Given the description of an element on the screen output the (x, y) to click on. 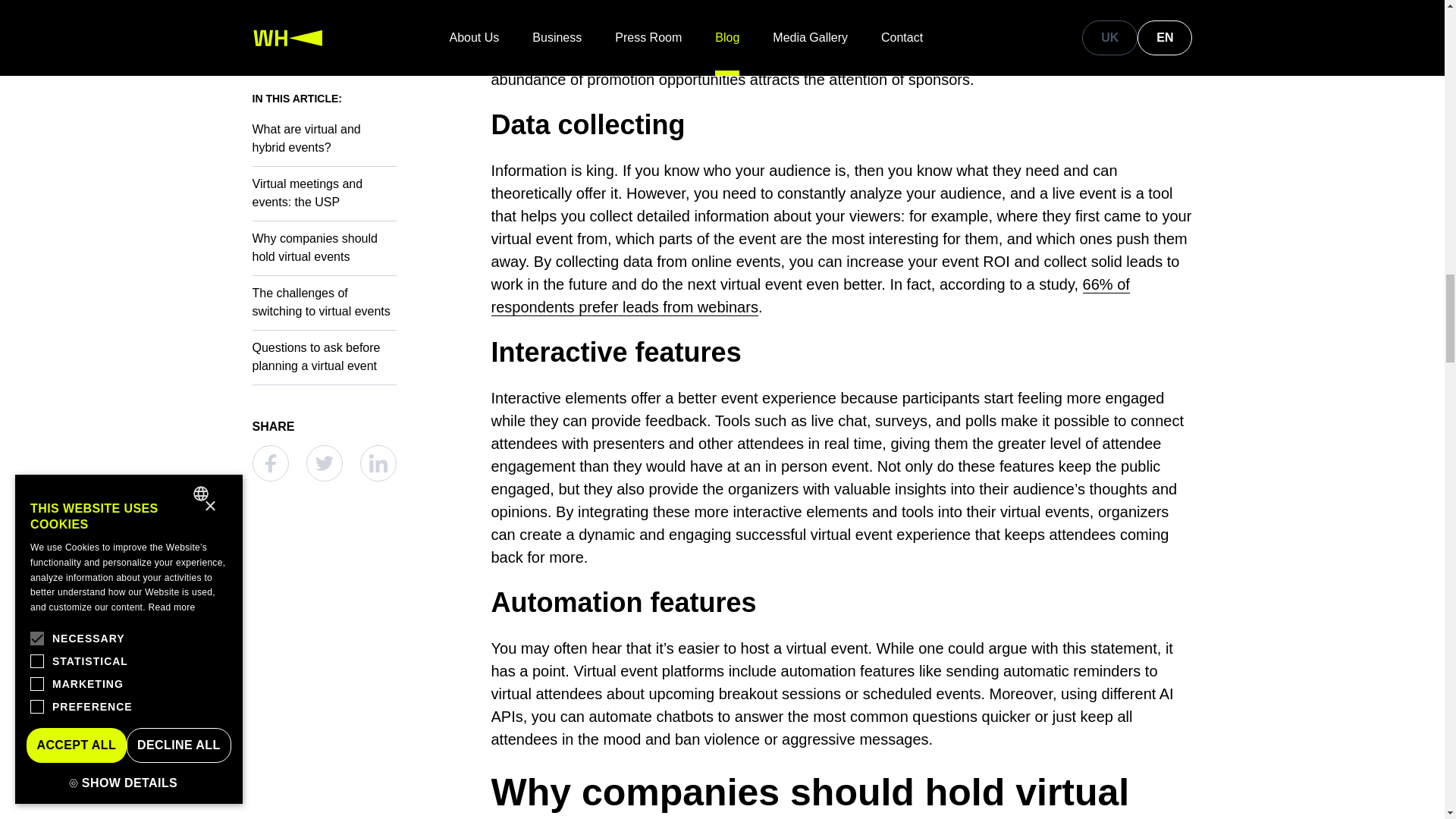
Why companies should hold virtual events (842, 794)
